Given the description of an element on the screen output the (x, y) to click on. 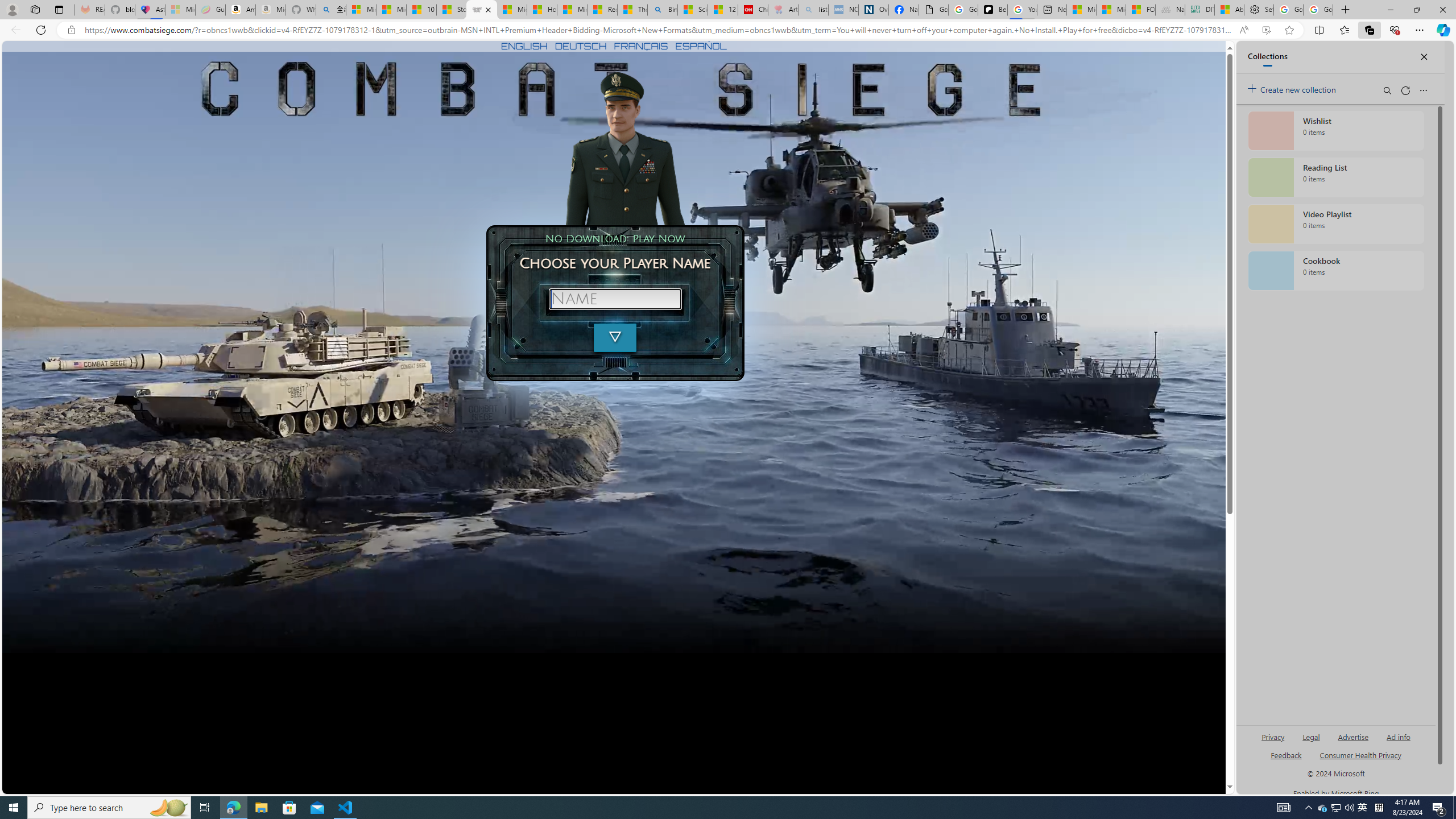
AutomationID: genId96 (1285, 759)
ENGLISH (523, 45)
